Given the description of an element on the screen output the (x, y) to click on. 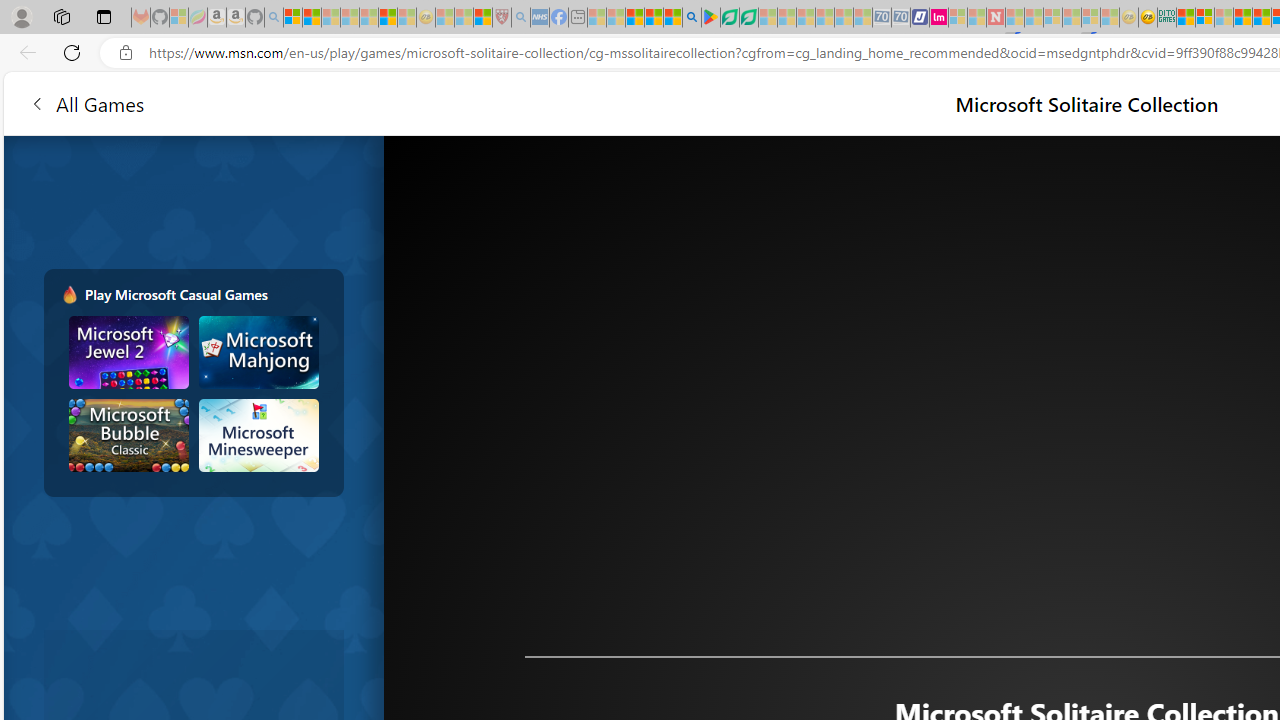
Microsoft Word - consumer-privacy address update 2.2021 (748, 17)
Microsoft Minesweeper (258, 435)
Microsoft Minesweeper (258, 435)
Trusted Community Engagement and Contributions | Guidelines (1014, 17)
